Given the description of an element on the screen output the (x, y) to click on. 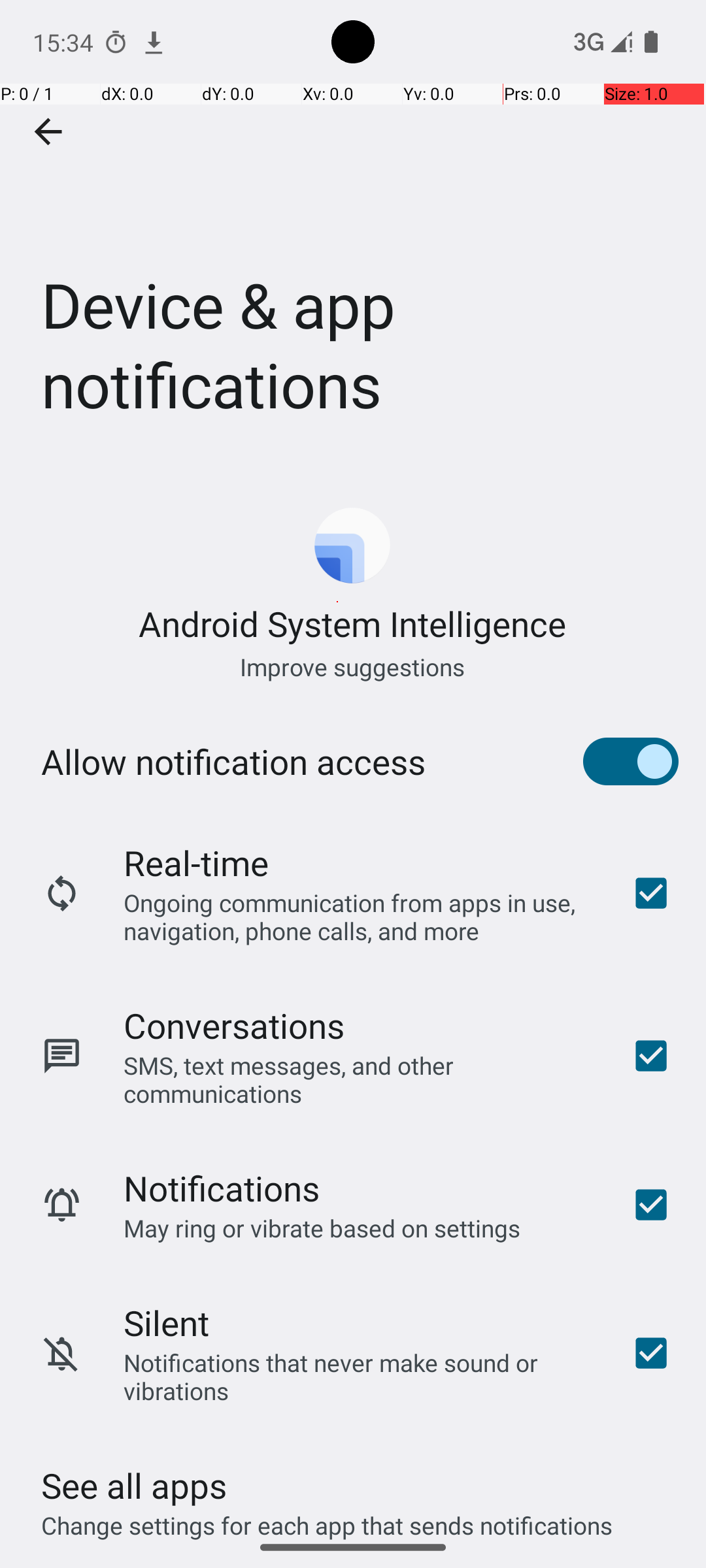
Improve suggestions Element type: android.widget.TextView (352, 666)
Allow notification access Element type: android.widget.TextView (233, 761)
Real-time Element type: android.widget.TextView (195, 862)
Ongoing communication from apps in use, navigation, phone calls, and more Element type: android.widget.TextView (359, 916)
SMS, text messages, and other communications Element type: android.widget.TextView (359, 1079)
May ring or vibrate based on settings Element type: android.widget.TextView (322, 1227)
Notifications that never make sound or vibrations Element type: android.widget.TextView (359, 1376)
See all apps Element type: android.widget.TextView (133, 1485)
Change settings for each app that sends notifications Element type: android.widget.TextView (326, 1517)
